Given the description of an element on the screen output the (x, y) to click on. 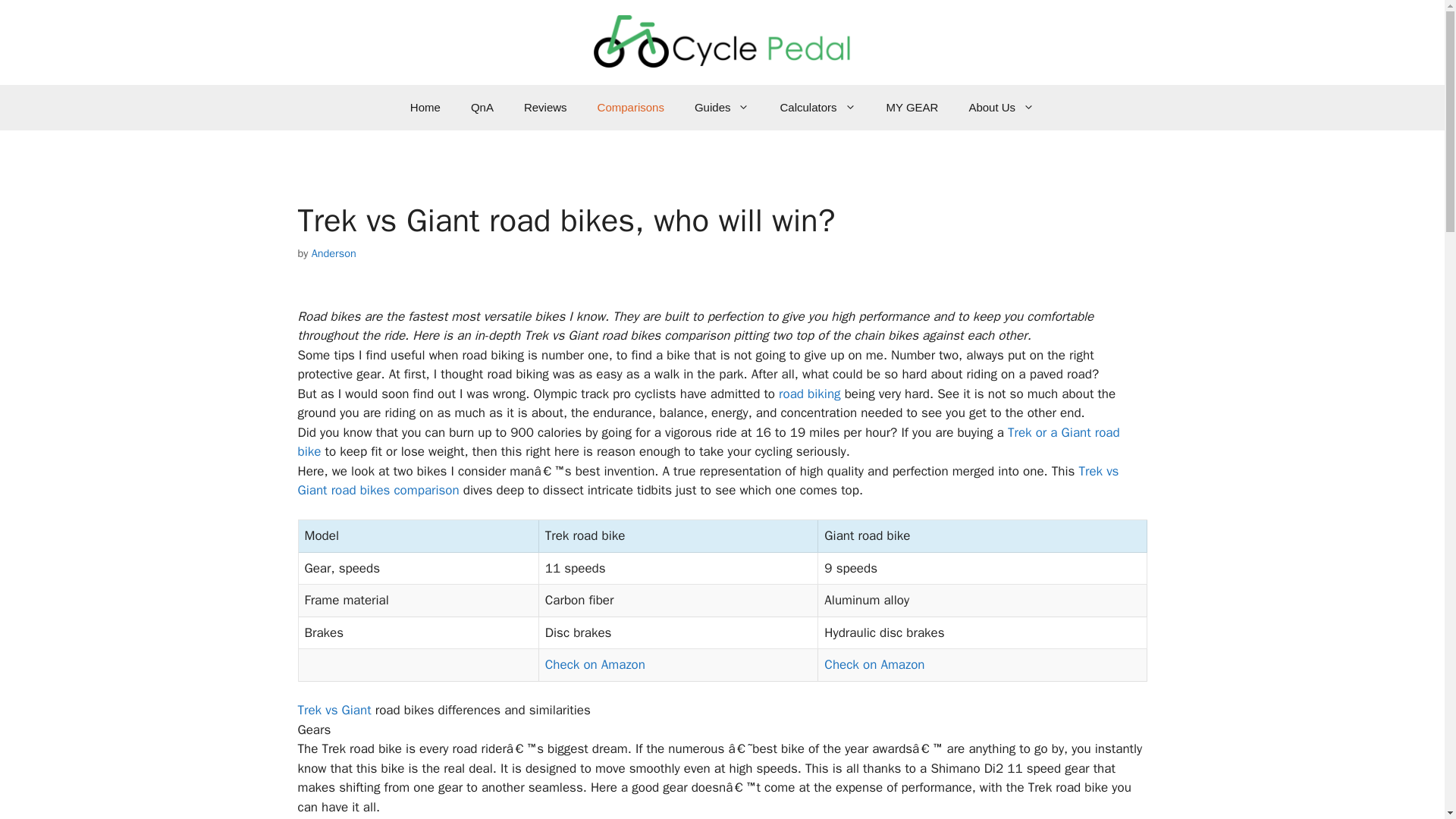
Comparisons (630, 107)
Check on Amazon (874, 664)
Reviews (545, 107)
Trek vs Giant road bikes comparison (707, 480)
Trek or a Giant road bike (708, 442)
Anderson (333, 253)
Home (424, 107)
MY GEAR (911, 107)
Guides (722, 107)
QnA (481, 107)
